Given the description of an element on the screen output the (x, y) to click on. 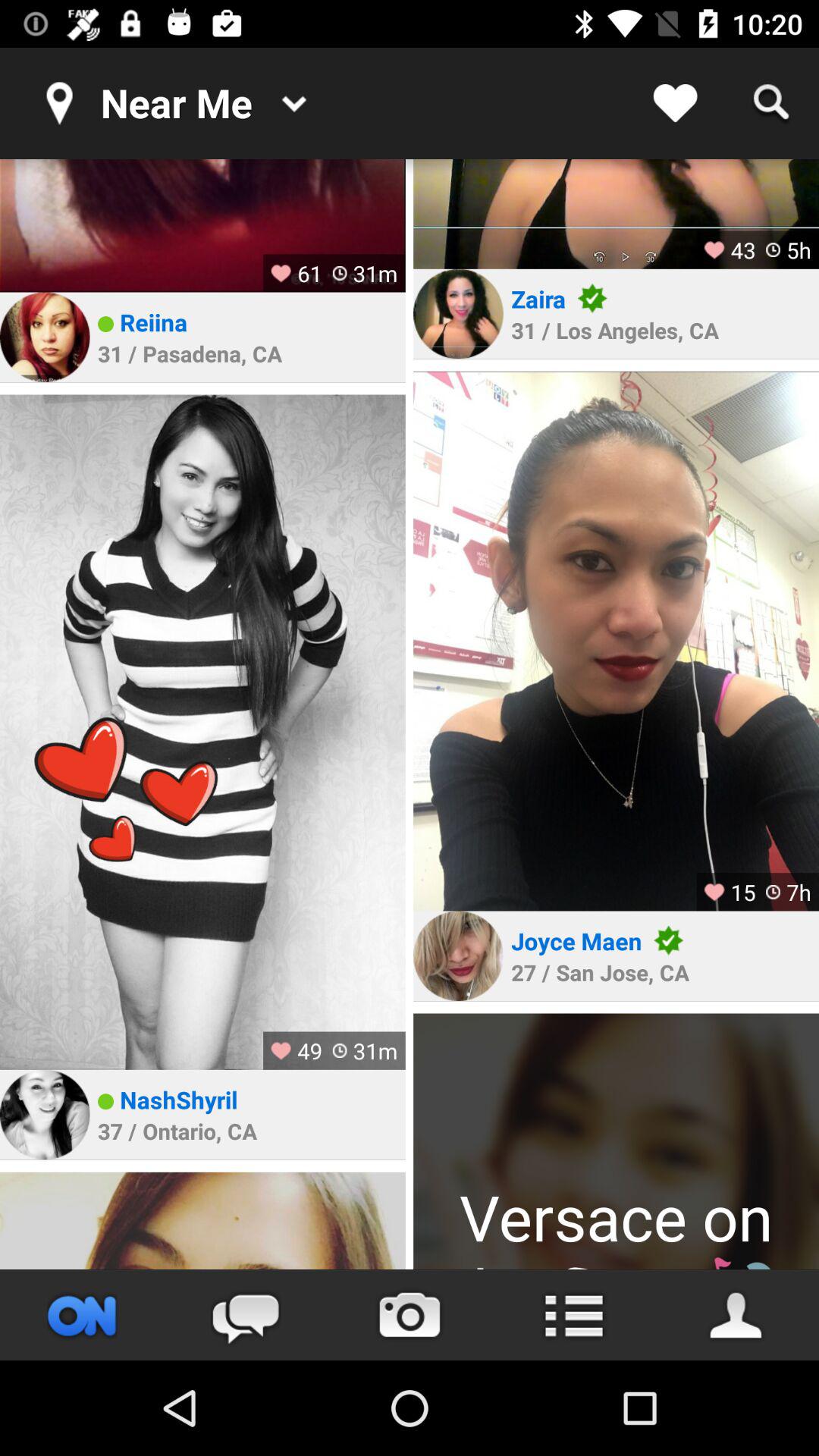
turn off the joyce maen item (576, 940)
